Given the description of an element on the screen output the (x, y) to click on. 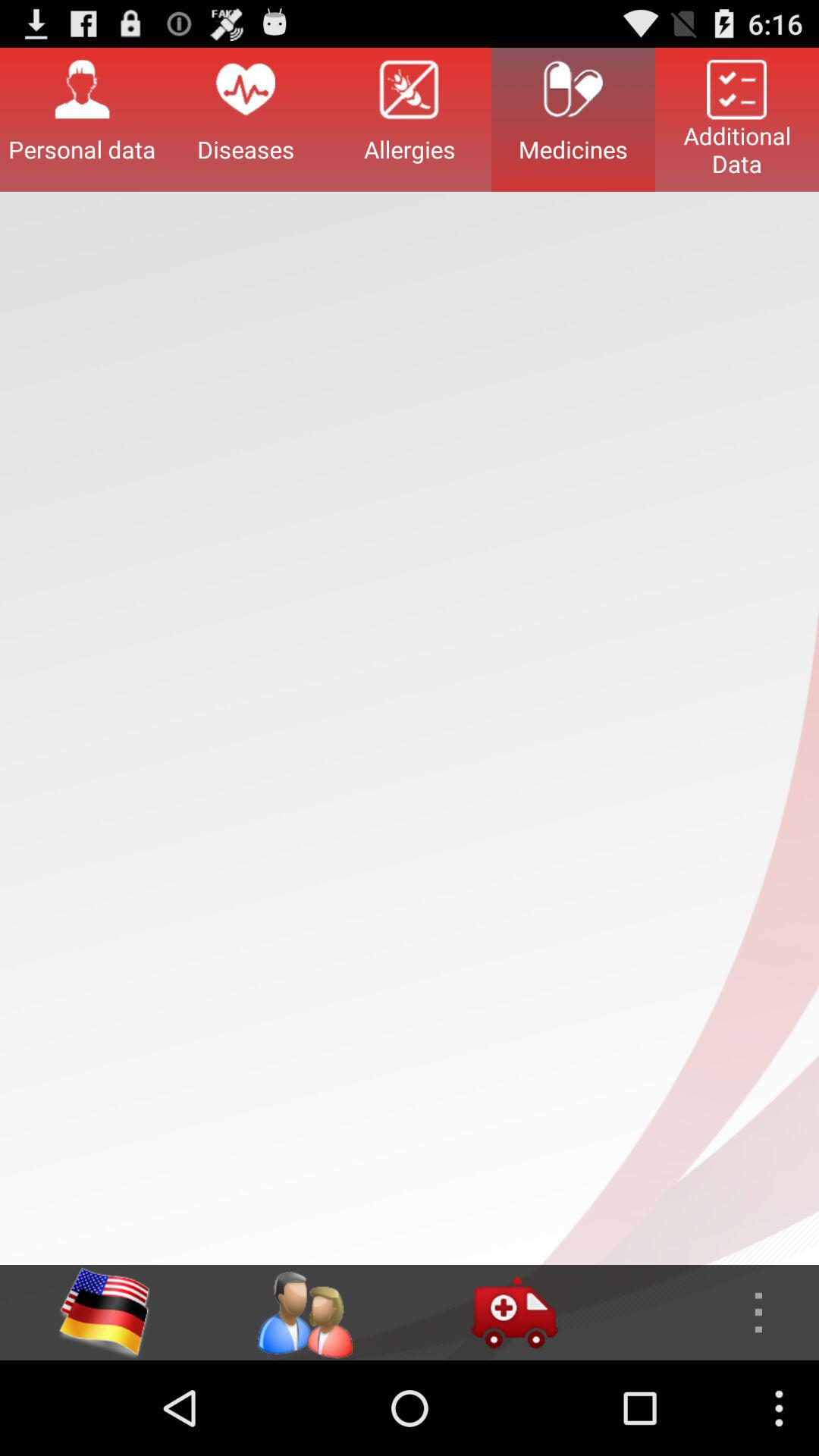
turn on the item to the left of the medicines icon (409, 119)
